Given the description of an element on the screen output the (x, y) to click on. 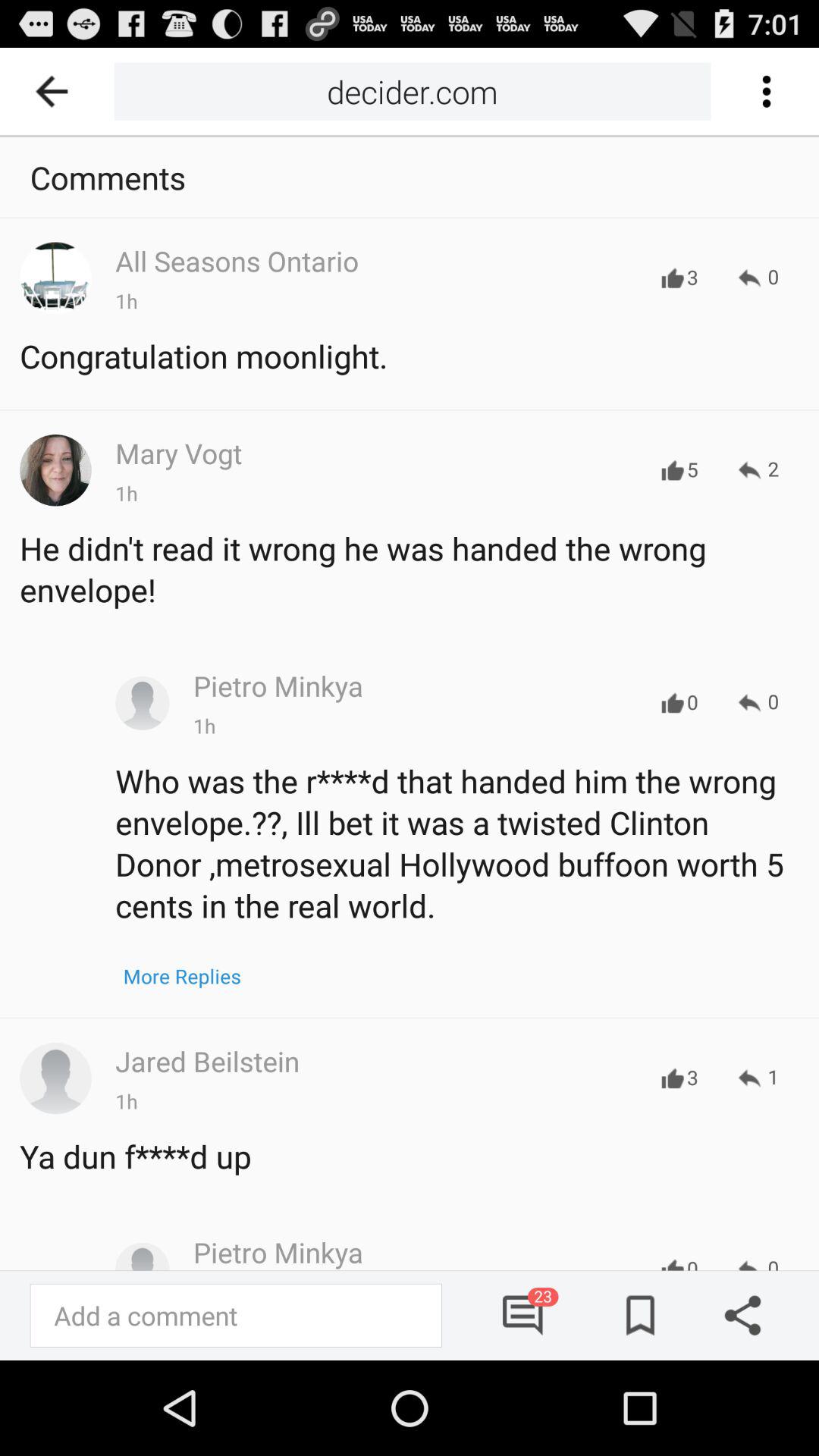
turn off item to the right of the decider.com (765, 91)
